Given the description of an element on the screen output the (x, y) to click on. 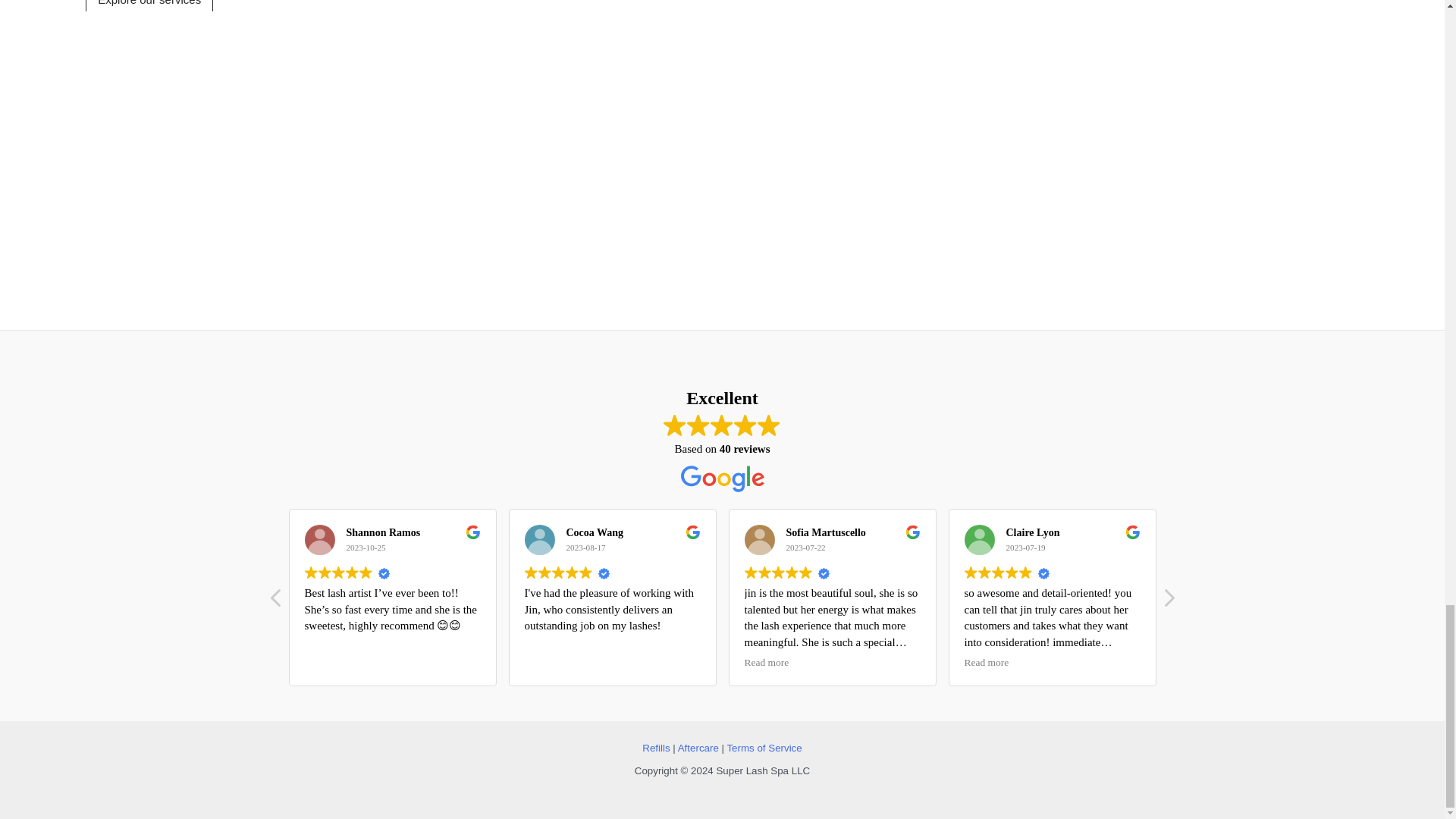
Aftercare (698, 747)
Explore our services (148, 5)
Terms of Service (764, 747)
Refills (655, 747)
